Given the description of an element on the screen output the (x, y) to click on. 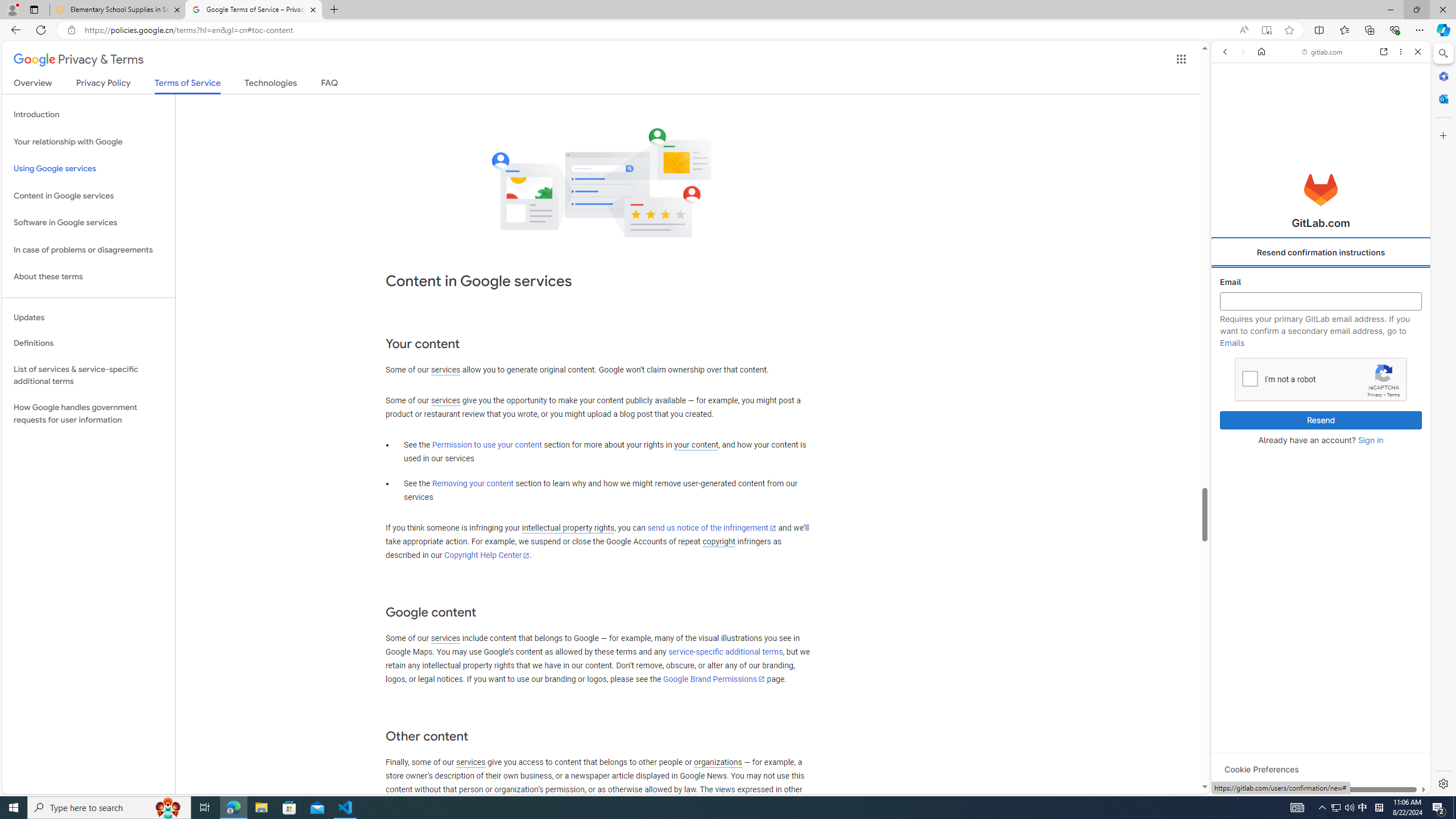
This site scope (1259, 102)
About GitLab (1320, 336)
View details (1379, 555)
Confirmation Page (1320, 389)
Side bar (1443, 418)
Add this page to favorites (Ctrl+D) (1289, 29)
Read aloud this page (Ctrl+Shift+U) (1243, 29)
IMAGES (1260, 130)
Web scope (1230, 102)
About GitLab (1320, 337)
Register Now (1320, 253)
Resend (1321, 420)
Global web icon (1232, 638)
